Given the description of an element on the screen output the (x, y) to click on. 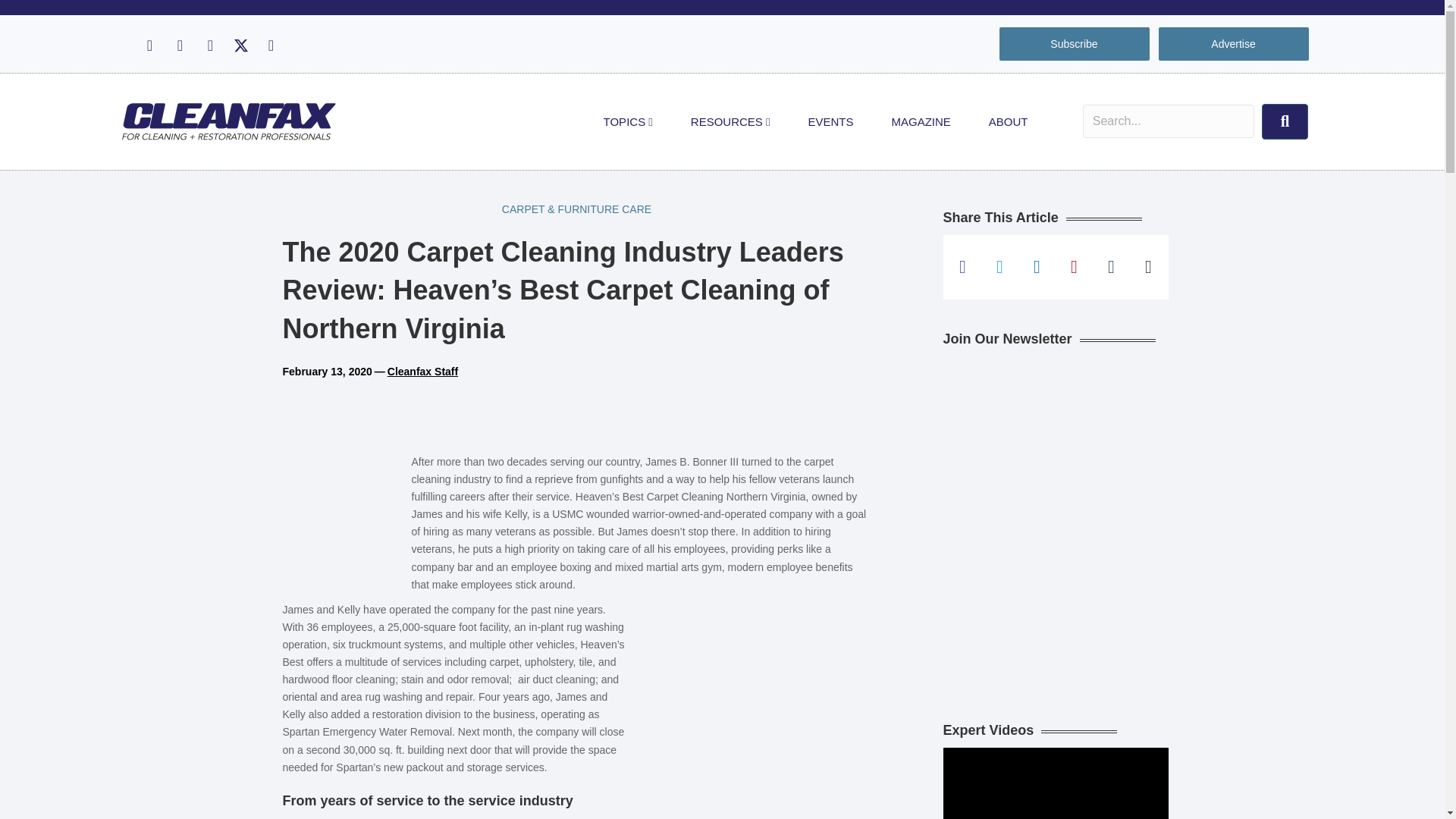
ABOUT (1007, 121)
TOPICS (628, 121)
Facebook (149, 45)
Cleanfax Staff (422, 371)
Subscribe (1073, 43)
RESOURCES (730, 121)
MAGAZINE (920, 121)
YouTube (270, 45)
Advertise (1232, 43)
LinkedIn (209, 45)
